Given the description of an element on the screen output the (x, y) to click on. 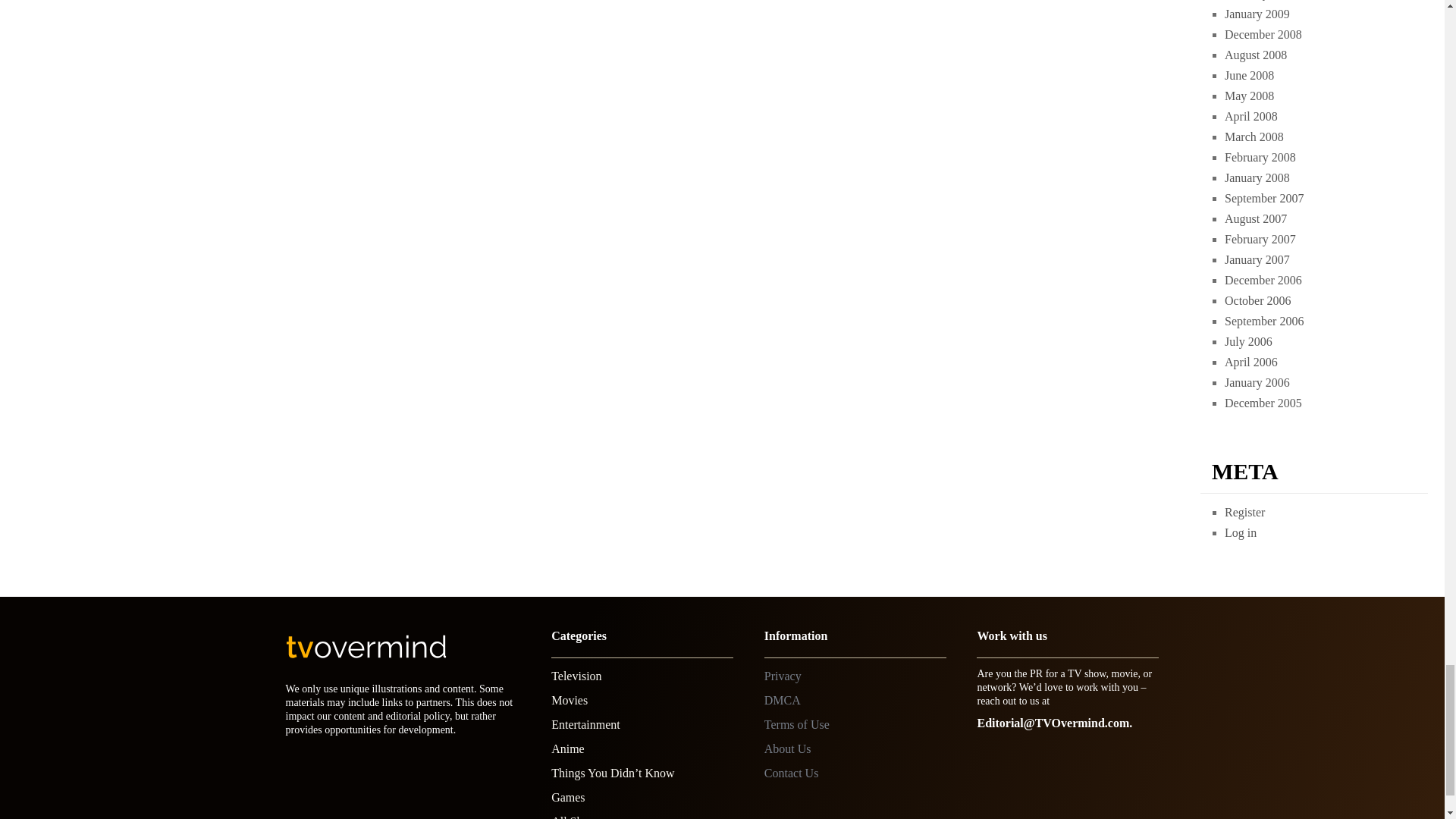
TV News (576, 675)
